Given the description of an element on the screen output the (x, y) to click on. 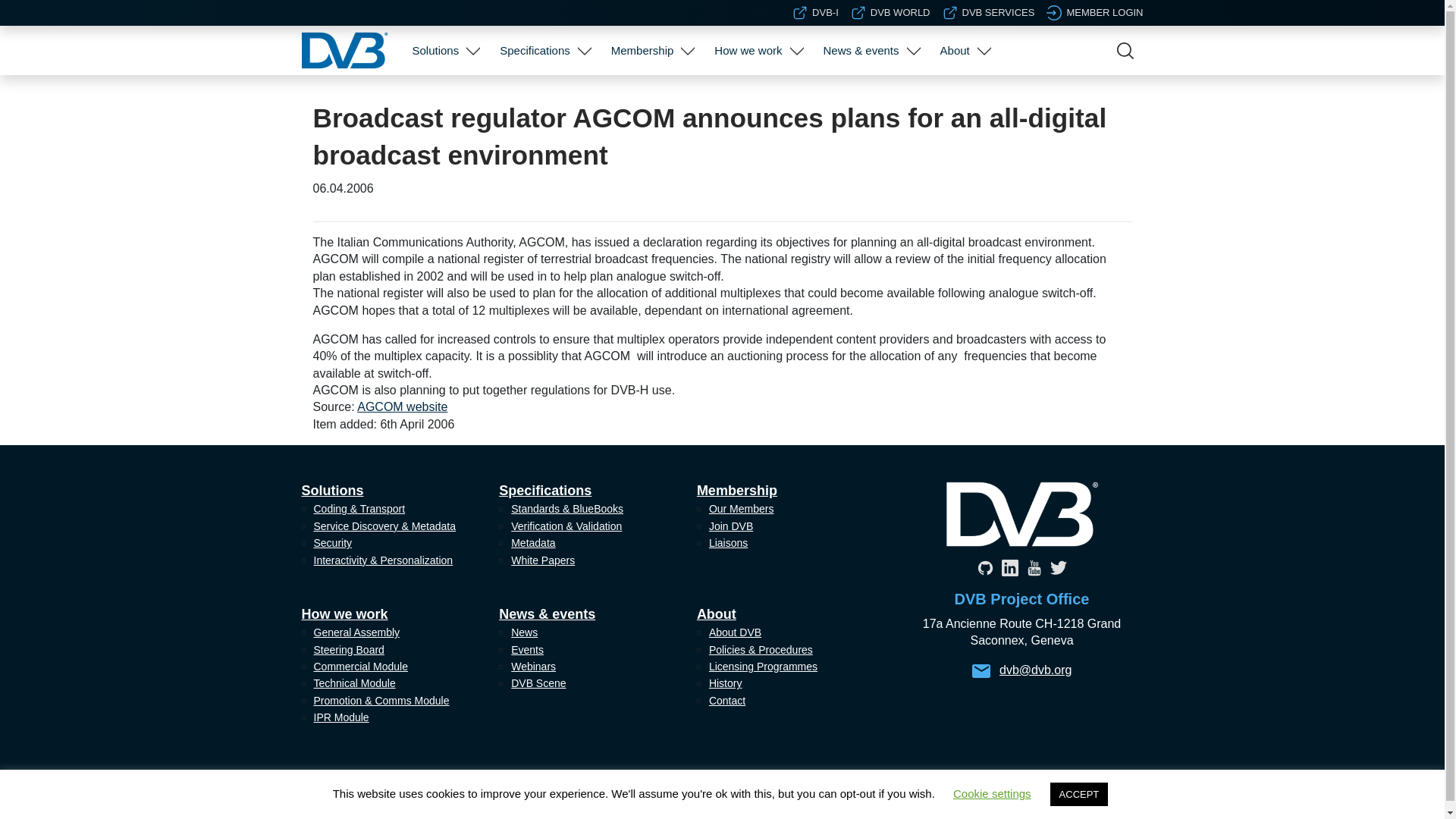
Specifications (534, 50)
How we work (747, 50)
General Assembly (756, 95)
LinkedIn Profile (1009, 567)
Twitter Profile (1057, 567)
DVB-I (815, 12)
Github Profile (984, 567)
MEMBER LOGIN (1094, 12)
DVB SERVICES (988, 12)
YouTube Profile (1033, 567)
Our Members (650, 95)
About DVB (962, 95)
DVB WORLD (890, 12)
News (869, 95)
Solutions (435, 50)
